Given the description of an element on the screen output the (x, y) to click on. 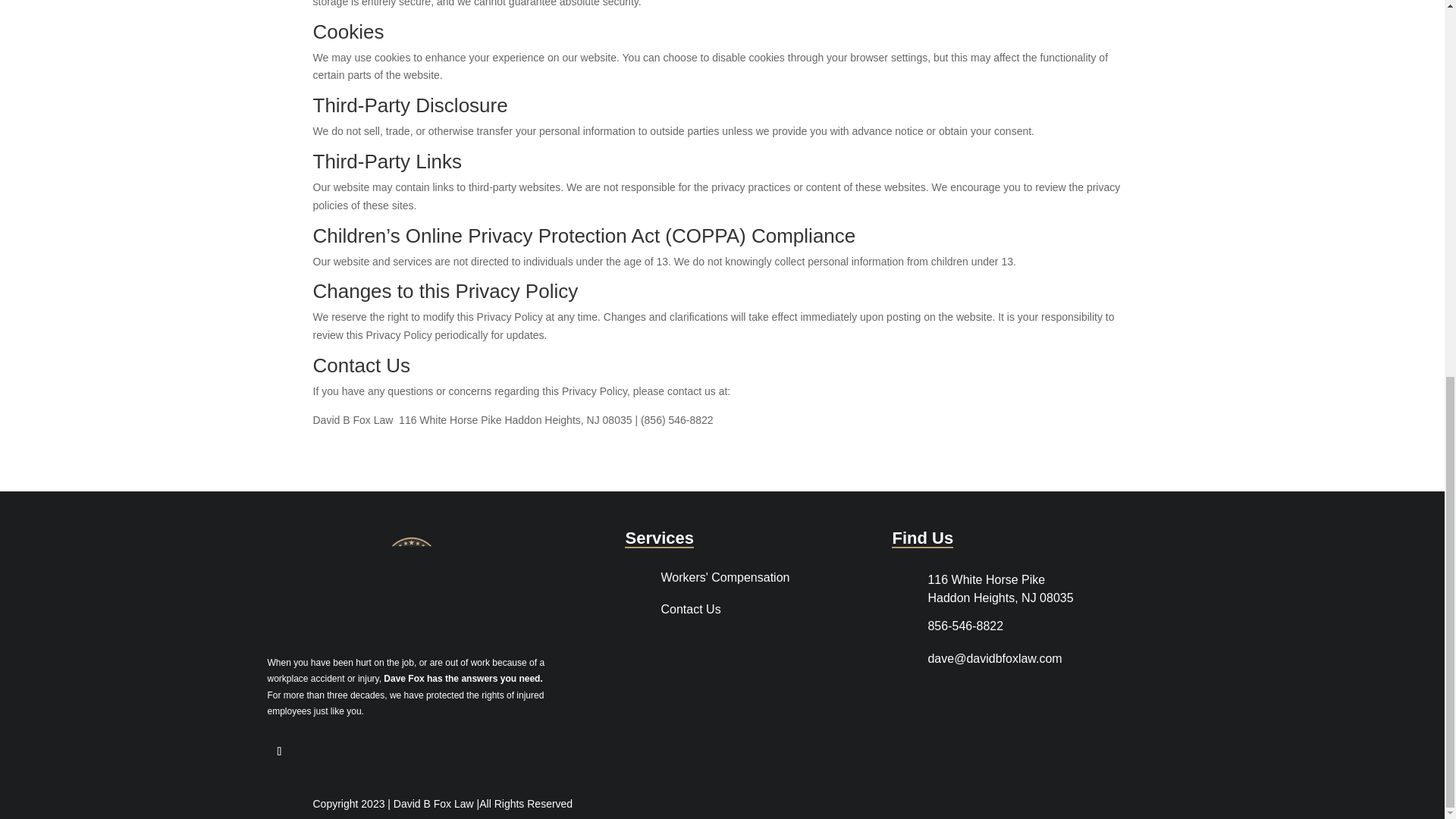
david fox (409, 582)
856-546-8822 (965, 625)
Contact Us (690, 608)
Workers' Compensation (725, 576)
Follow on Facebook (278, 751)
